Given the description of an element on the screen output the (x, y) to click on. 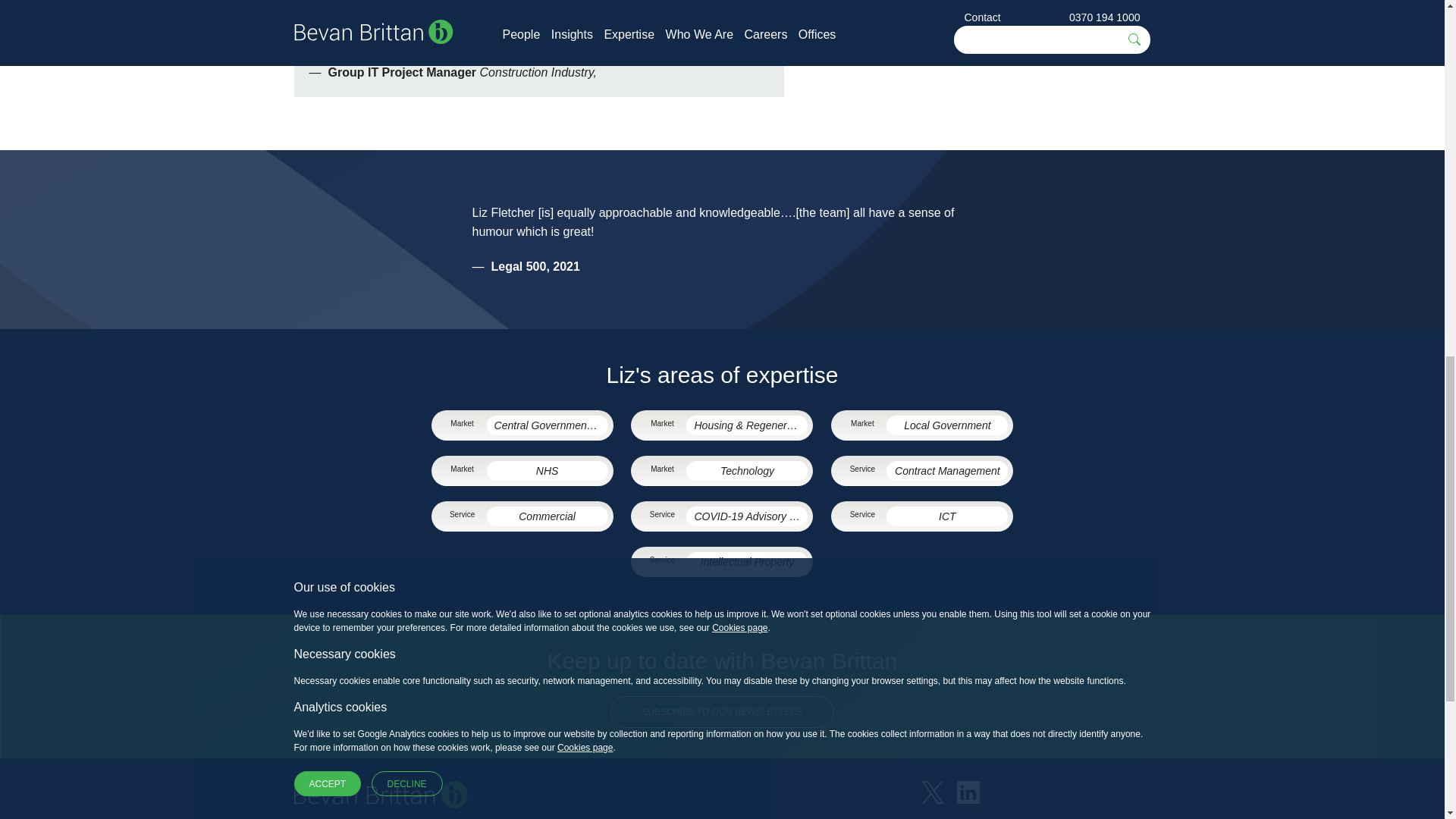
Intellectual Property (746, 561)
Commercial (547, 516)
ICT (946, 516)
COVID-19 Advisory Service (746, 516)
Contract Management (946, 470)
Local Government (946, 424)
Technology (746, 470)
NHS (547, 470)
